Given the description of an element on the screen output the (x, y) to click on. 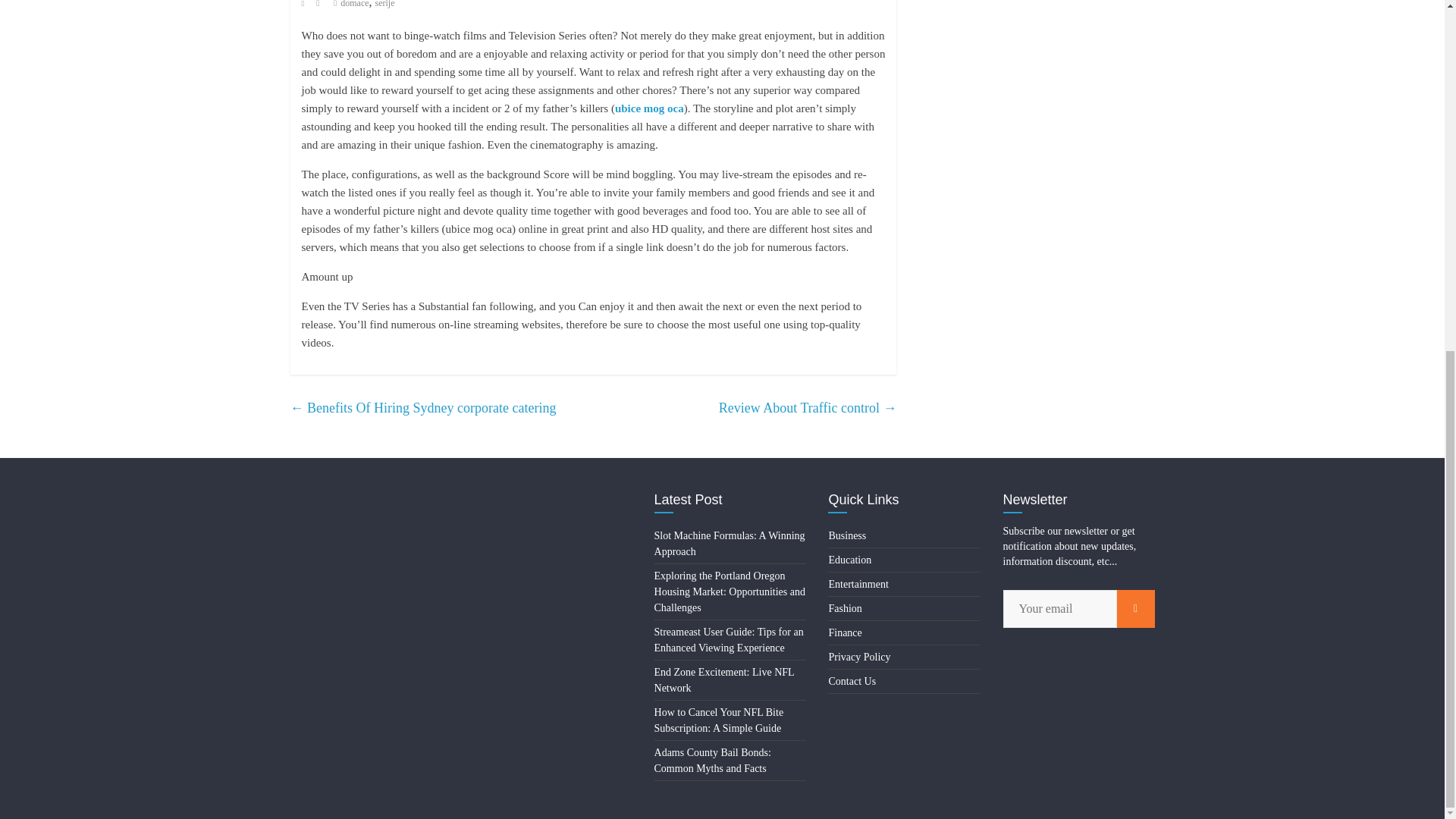
Contact Us (852, 681)
Business (847, 535)
End Zone Excitement: Live NFL Network (723, 679)
ubice mog oca (649, 108)
Entertainment (858, 583)
How to Cancel Your NFL Bite Subscription: A Simple Guide (718, 719)
domace (354, 4)
Finance (844, 632)
Fashion (844, 608)
Adams County Bail Bonds: Common Myths and Facts (712, 759)
Privacy Policy (858, 656)
serije (384, 4)
Slot Machine Formulas: A Winning Approach (729, 543)
